Given the description of an element on the screen output the (x, y) to click on. 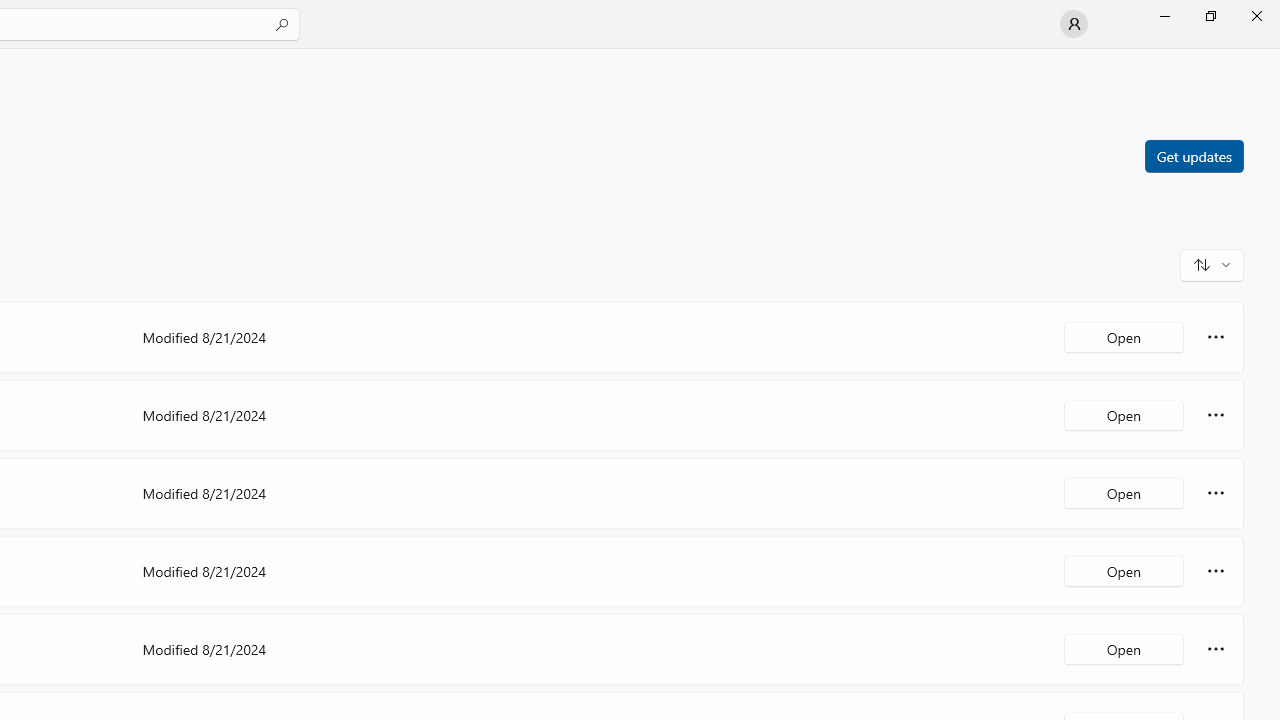
Sort and filter (1212, 263)
More options (1215, 648)
User profile (1073, 24)
Restore Microsoft Store (1210, 15)
Open (1123, 648)
Close Microsoft Store (1256, 15)
Get updates (1193, 155)
Minimize Microsoft Store (1164, 15)
